Given the description of an element on the screen output the (x, y) to click on. 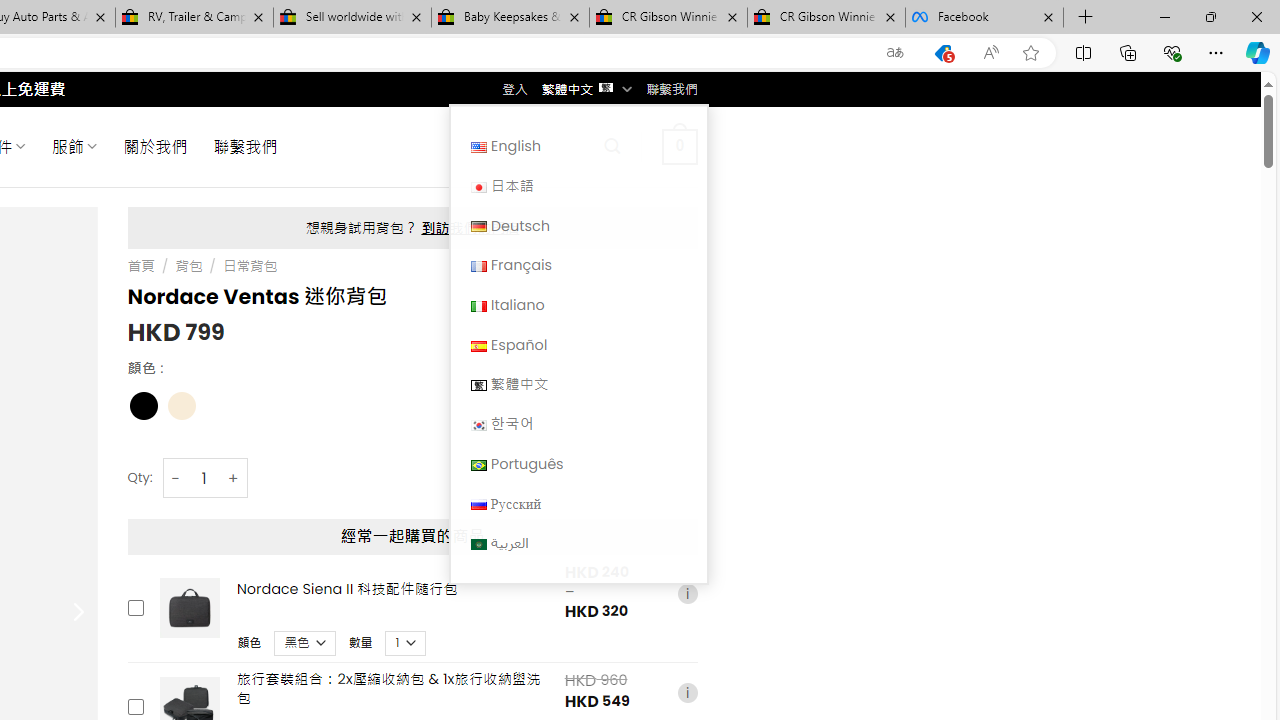
Italiano Italiano (578, 303)
- (175, 477)
